Given the description of an element on the screen output the (x, y) to click on. 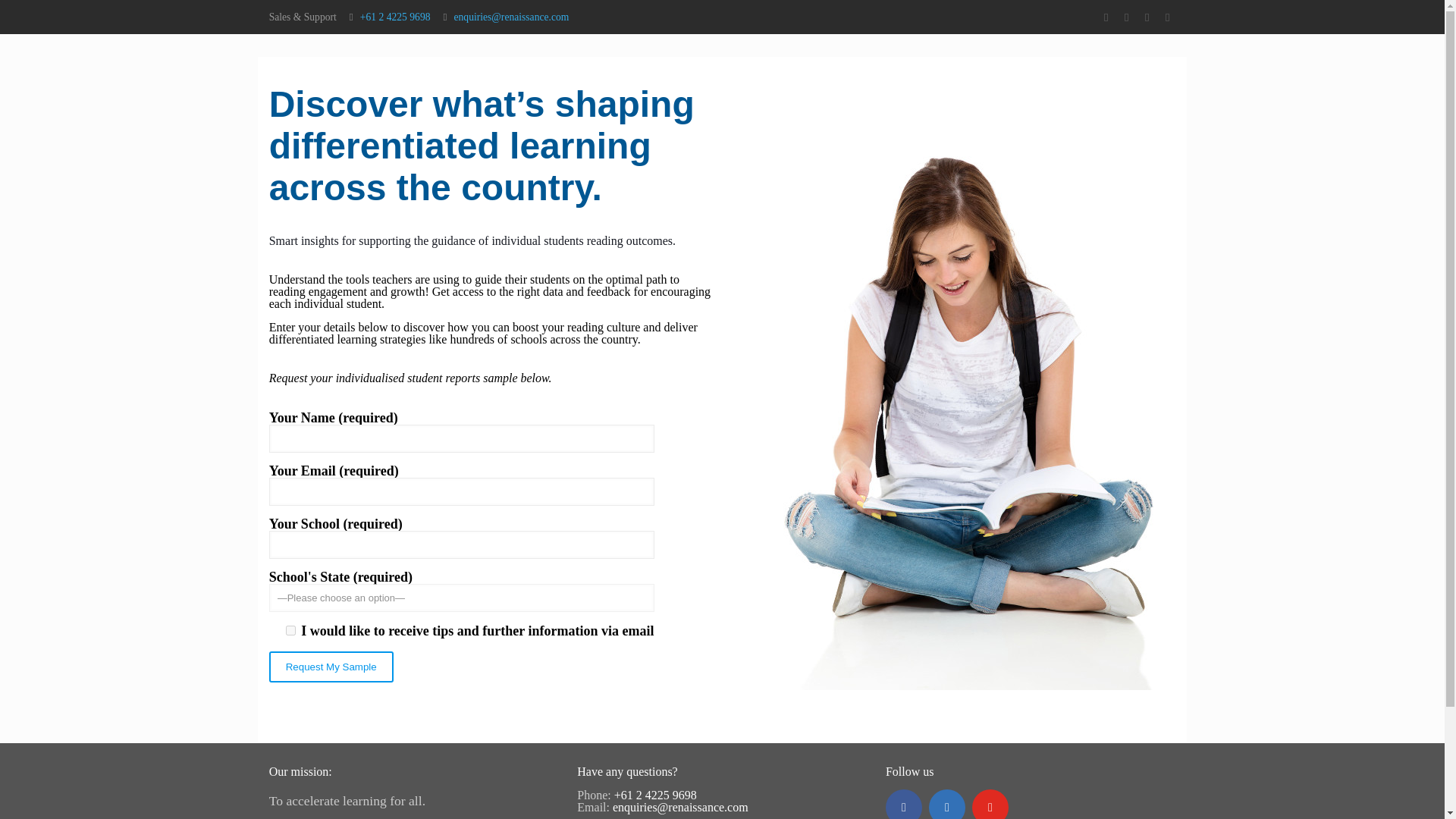
YouTube (1126, 17)
Facebook (1105, 17)
Request My Sample (331, 666)
Linkedin (946, 804)
YouTube (990, 804)
LinkedIn (1146, 17)
Pinterest (1166, 17)
Facebook (903, 804)
